Given the description of an element on the screen output the (x, y) to click on. 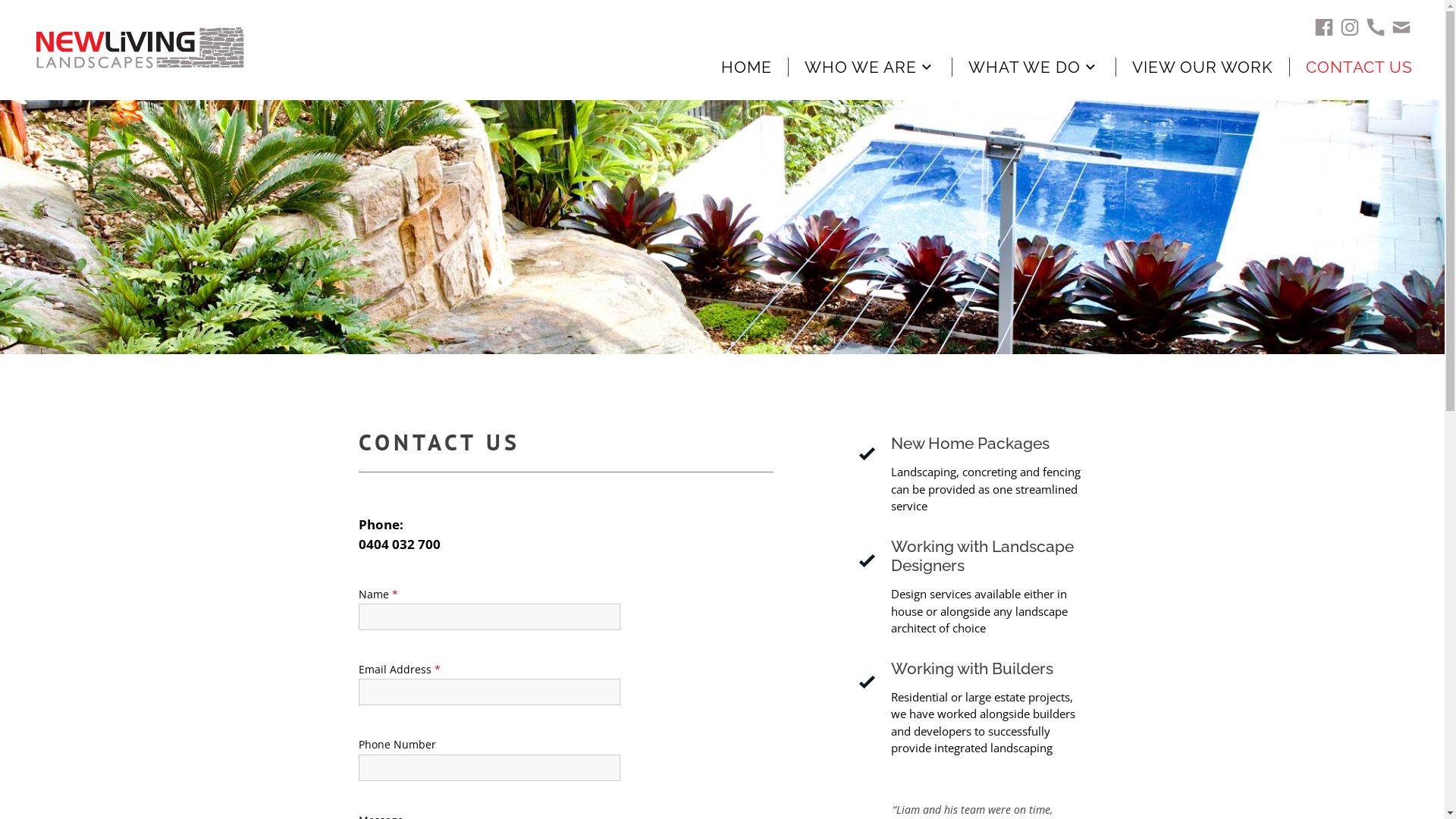
VIEW OUR WORK Element type: text (1218, 66)
WHO WE ARE Element type: text (885, 66)
Return to homepage Element type: hover (253, 47)
0404 032 700 Element type: text (565, 543)
HOME Element type: text (754, 66)
CONTACT US Element type: text (1366, 66)
WHAT WE DO Element type: text (1049, 66)
